Given the description of an element on the screen output the (x, y) to click on. 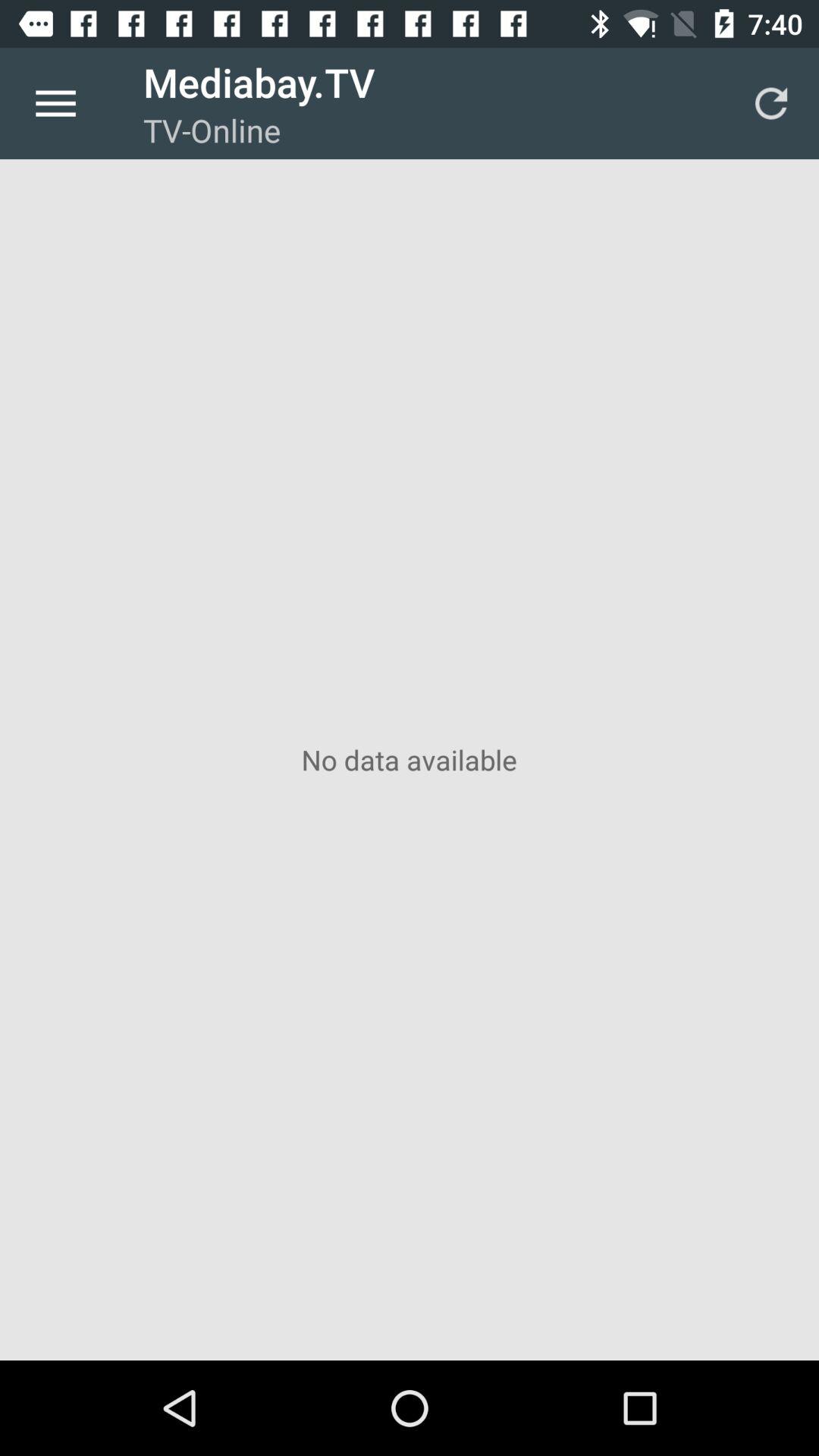
launch icon to the right of mediabay.tv item (771, 103)
